Given the description of an element on the screen output the (x, y) to click on. 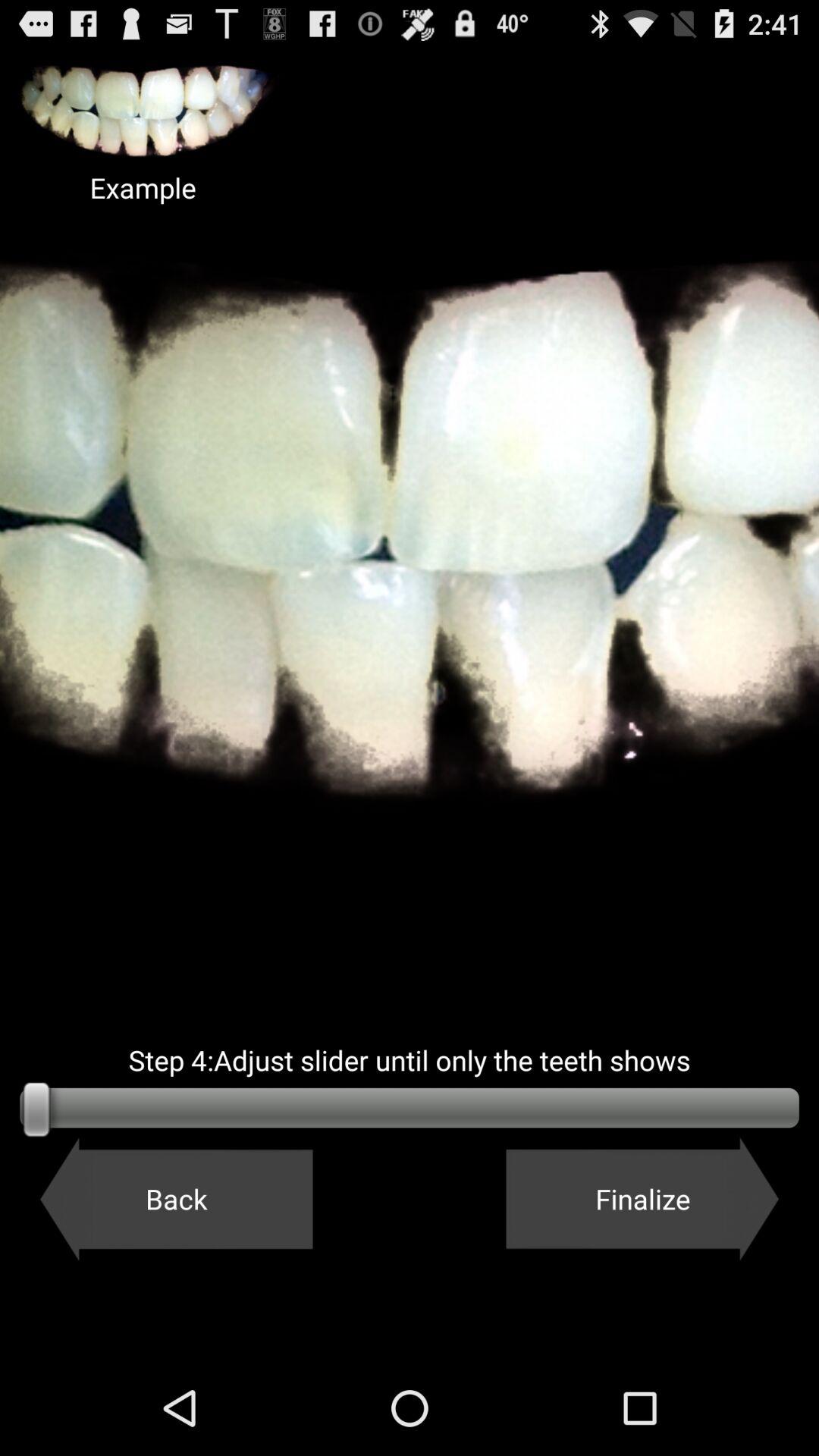
open the button next to finalize icon (175, 1198)
